Given the description of an element on the screen output the (x, y) to click on. 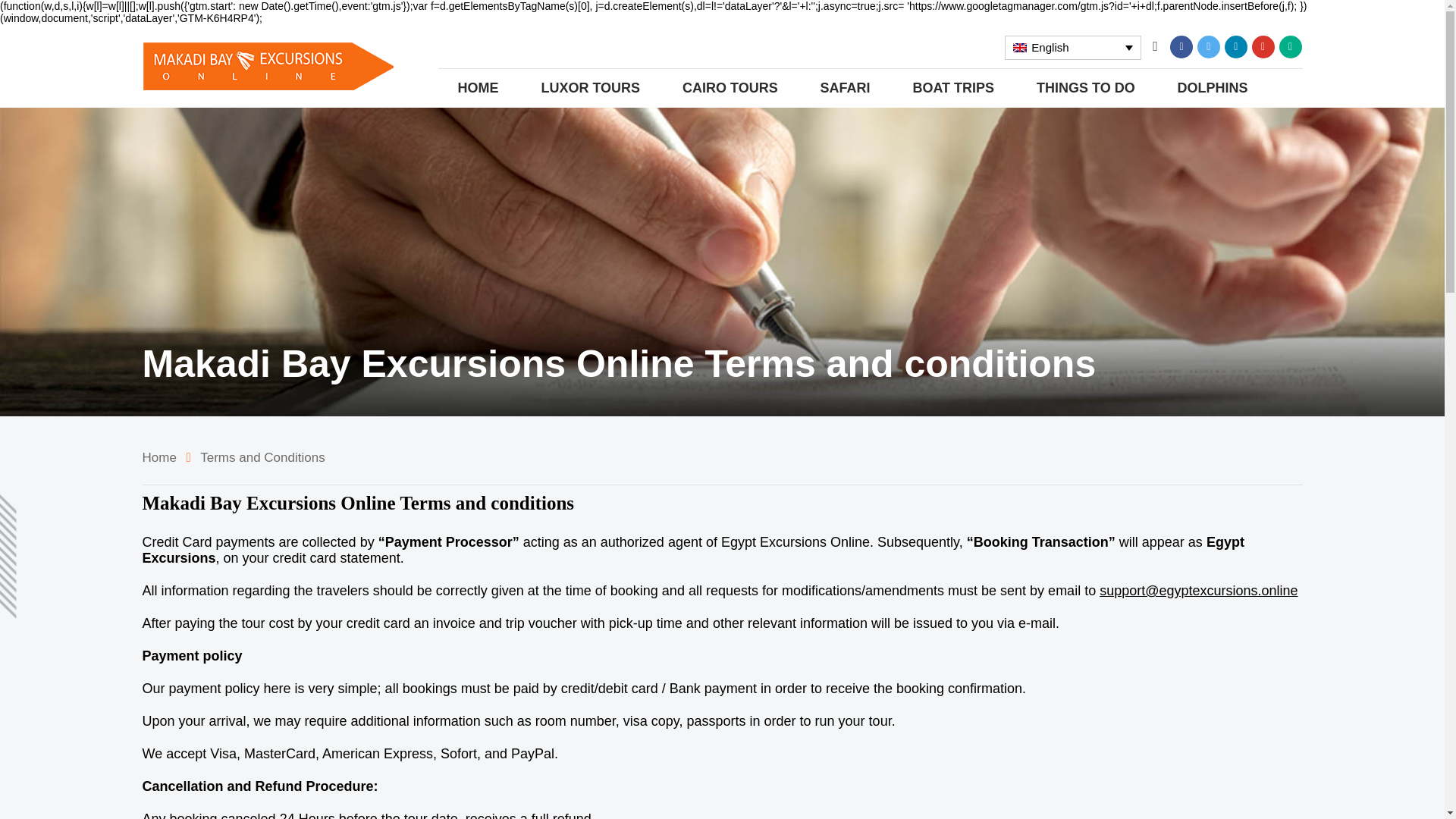
SAFARI (845, 88)
Home (159, 457)
LUXOR TOURS (590, 88)
DOLPHINS (1212, 88)
English (1072, 47)
CAIRO TOURS (729, 88)
BOAT TRIPS (953, 88)
HOME (478, 88)
THINGS TO DO (1085, 88)
